Given the description of an element on the screen output the (x, y) to click on. 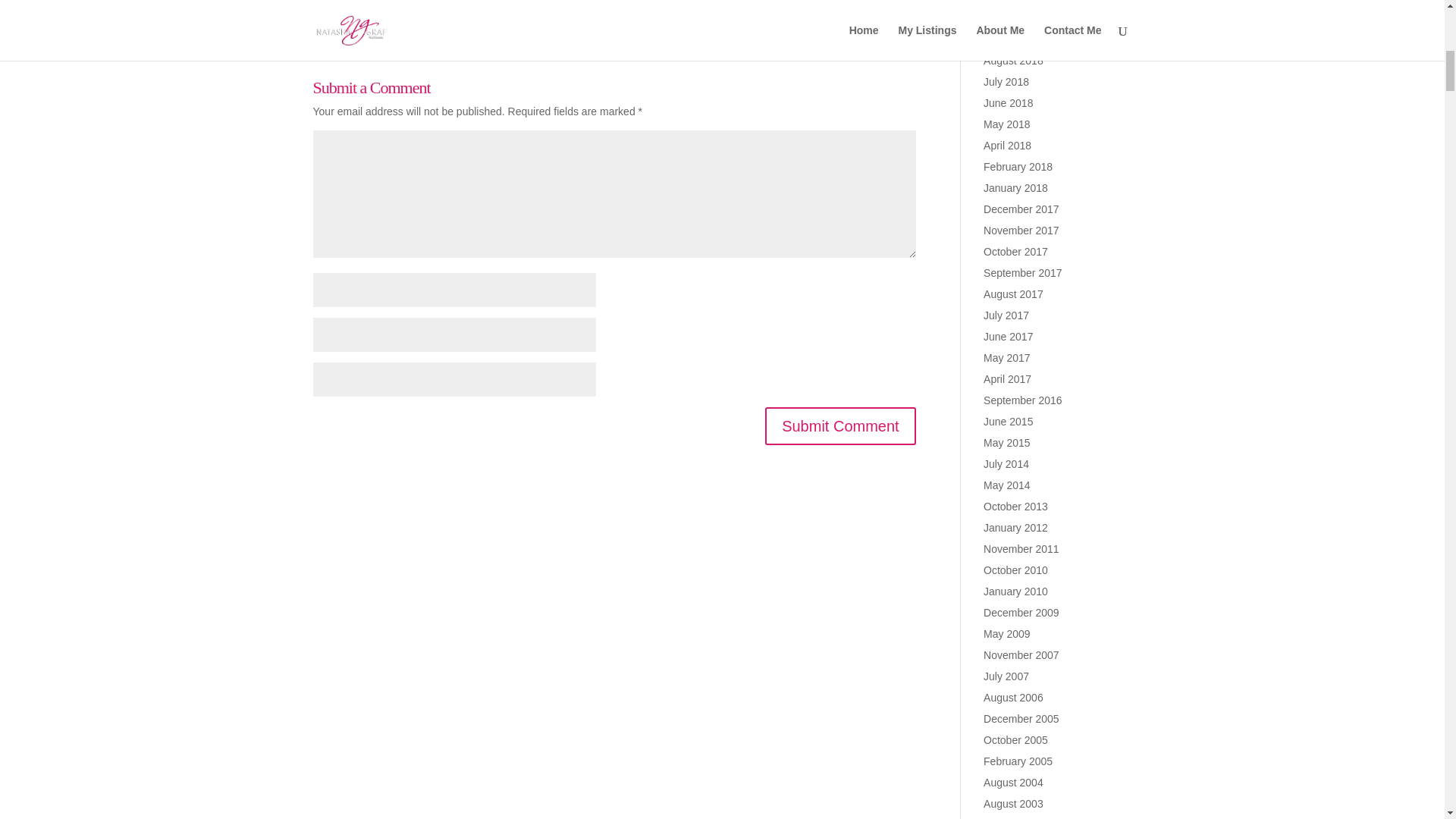
July 2018 (1006, 81)
Submit Comment (840, 426)
November 2018 (1021, 1)
September 2018 (1023, 39)
Submit Comment (840, 426)
October 2018 (1016, 18)
August 2018 (1013, 60)
